Given the description of an element on the screen output the (x, y) to click on. 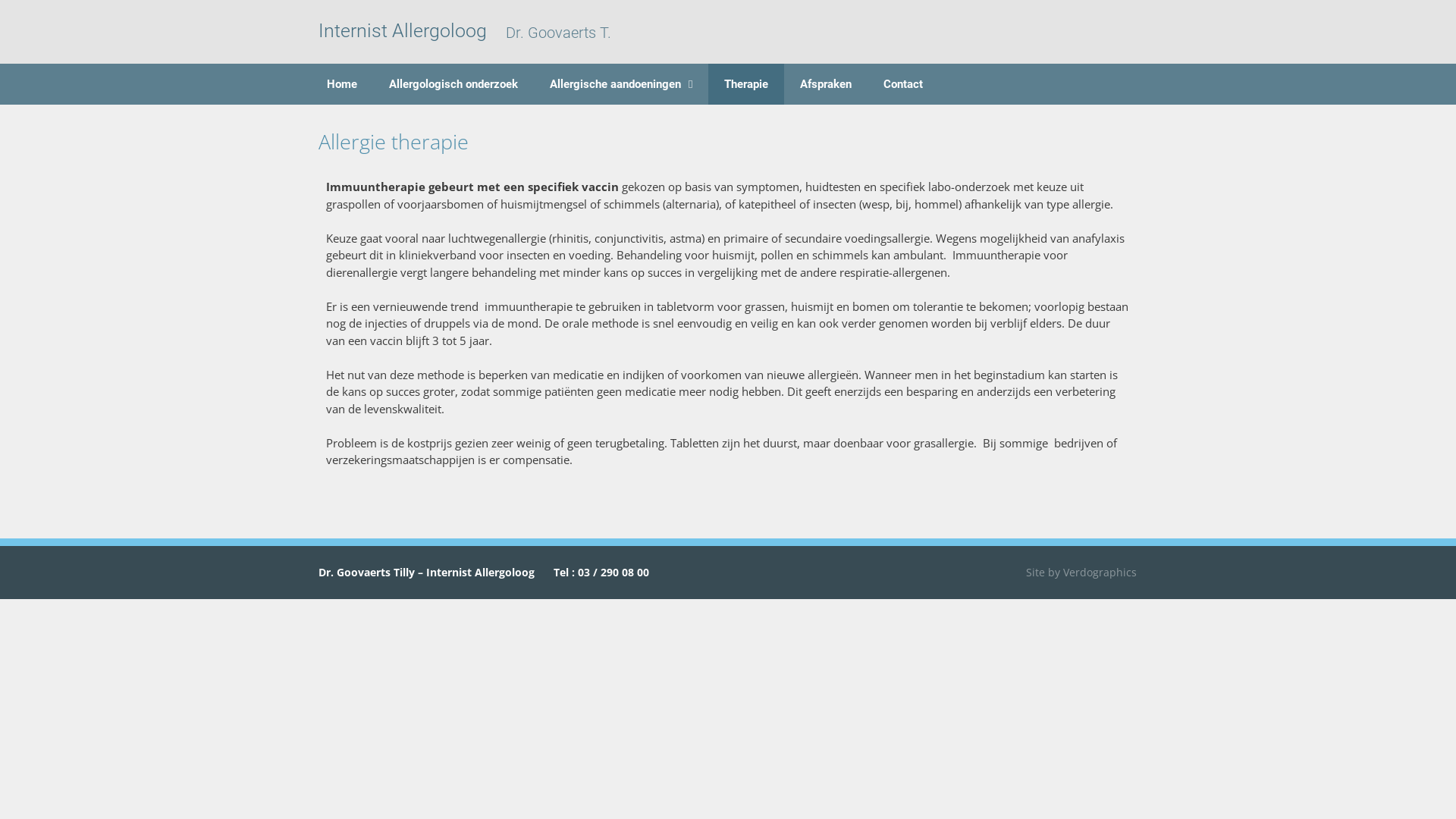
Allergische aandoeningen Element type: text (620, 83)
Therapie Element type: text (746, 83)
Allergologisch onderzoek Element type: text (453, 83)
Afspraken Element type: text (825, 83)
Home Element type: text (341, 83)
Internist Allergoloog Element type: text (402, 30)
Site by Verdographics Element type: text (1081, 571)
Contact Element type: text (902, 83)
